Given the description of an element on the screen output the (x, y) to click on. 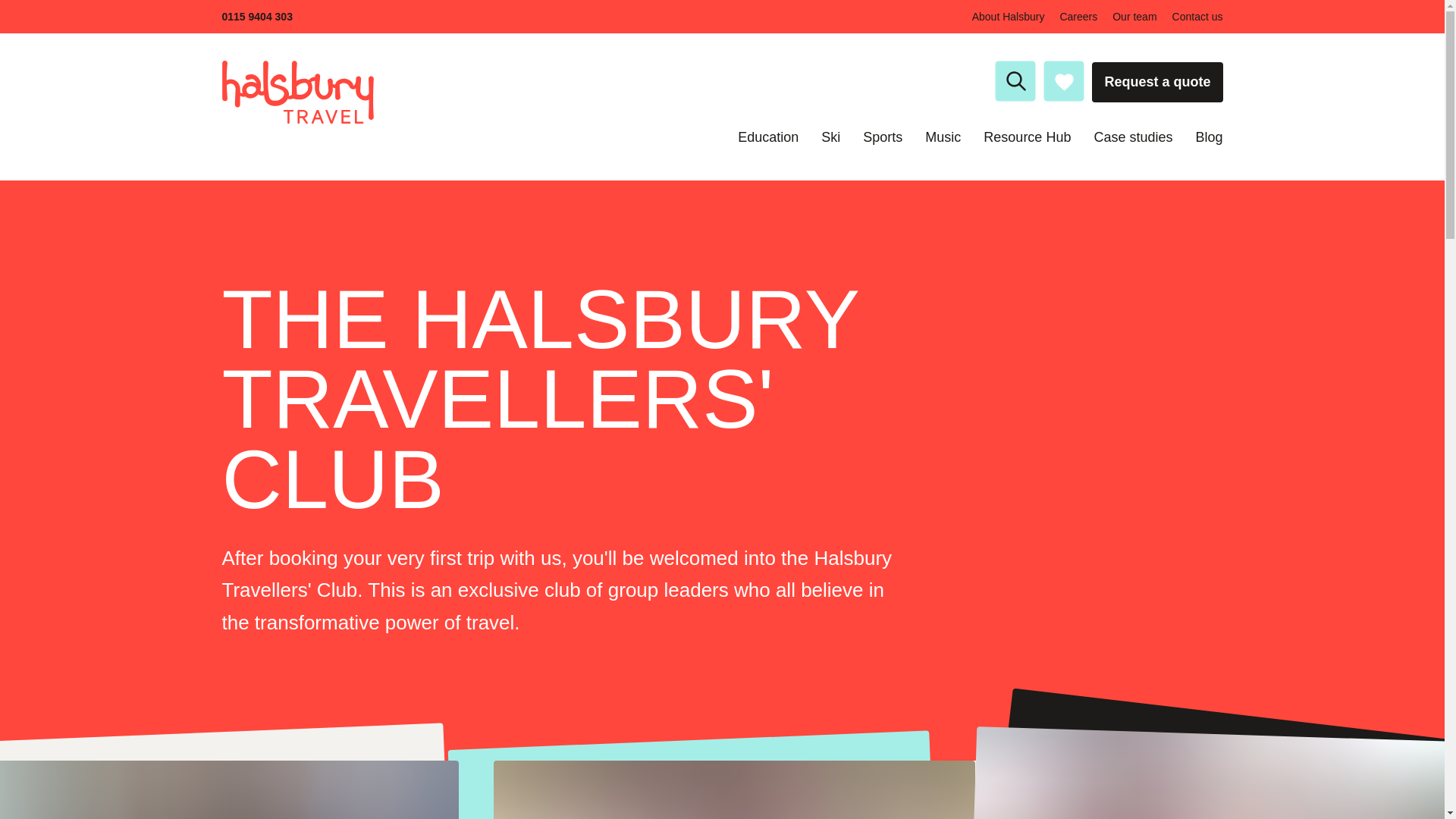
Blog (1209, 136)
Case studies (1132, 136)
Sports (882, 136)
Music (942, 136)
Our team (1134, 16)
Careers (1078, 16)
Education (767, 136)
About Halsbury (1008, 16)
Resource Hub (1027, 136)
Ski (830, 136)
